Given the description of an element on the screen output the (x, y) to click on. 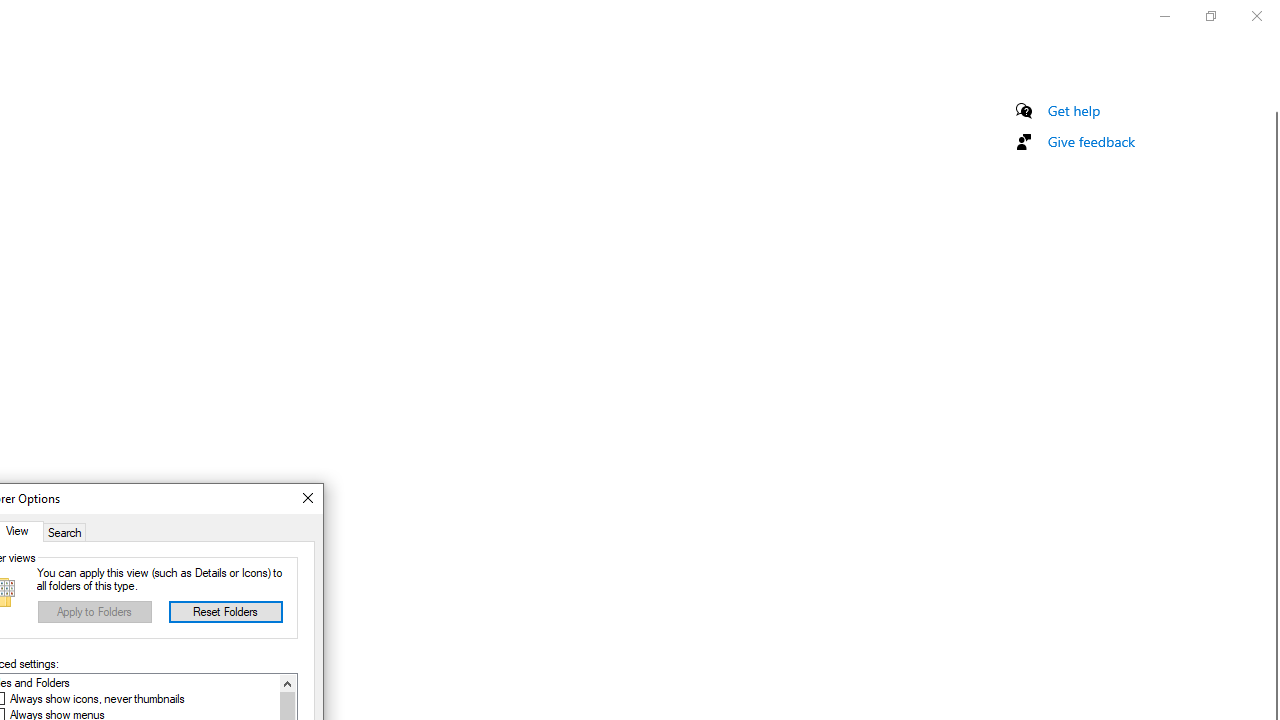
Always show icons, never thumbnails (96, 699)
Line up (287, 683)
Reset Folders (225, 611)
View (21, 531)
Search (65, 531)
Apply to Folders (95, 611)
Close (306, 498)
